Given the description of an element on the screen output the (x, y) to click on. 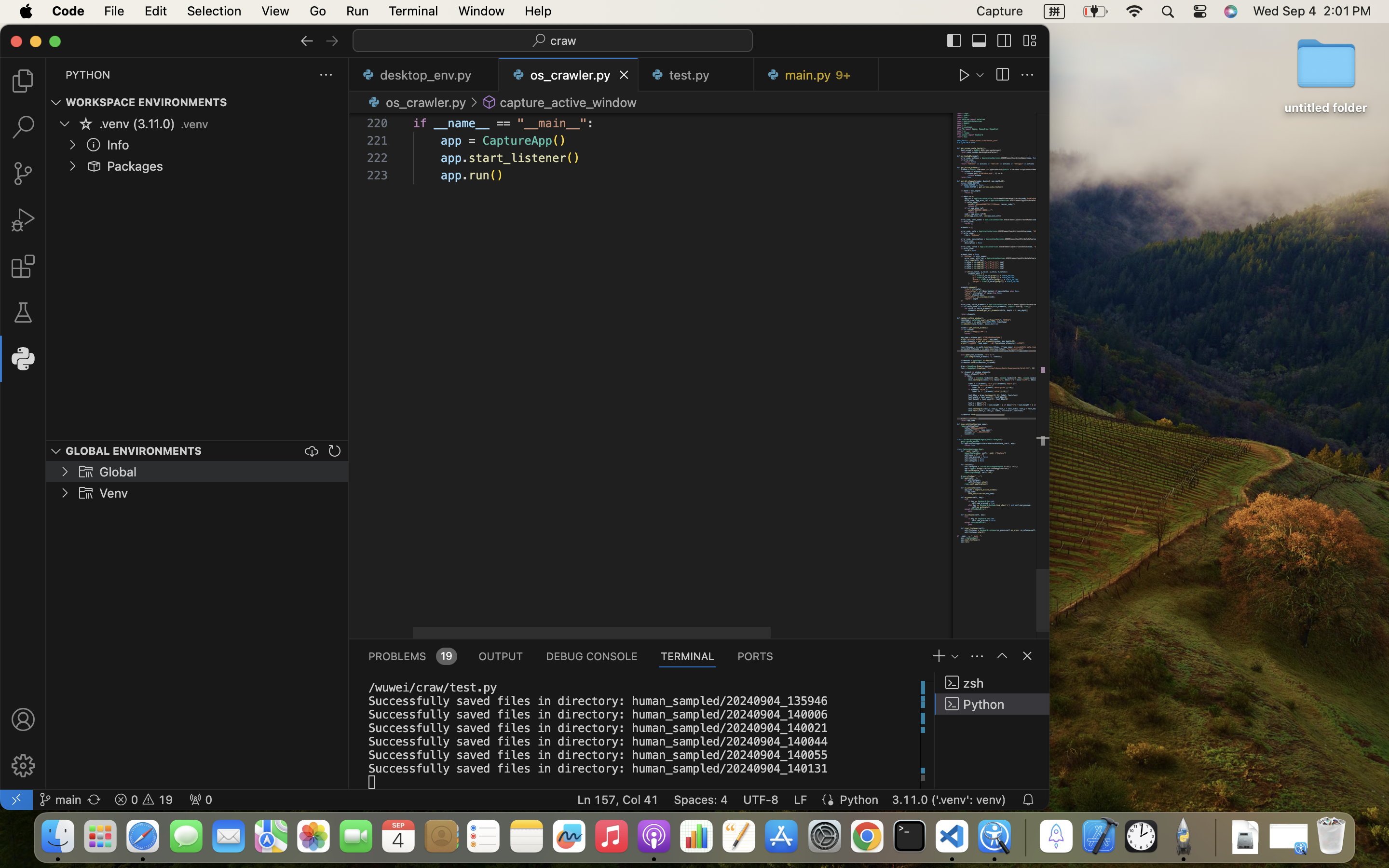
 Element type: AXButton (1026, 655)
craw Element type: AXStaticText (563, 40)
0.4285714328289032 Element type: AXDockItem (1024, 836)
PYTHON Element type: AXStaticText (87, 74)
0 PROBLEMS 19 Element type: AXRadioButton (411, 655)
